Given the description of an element on the screen output the (x, y) to click on. 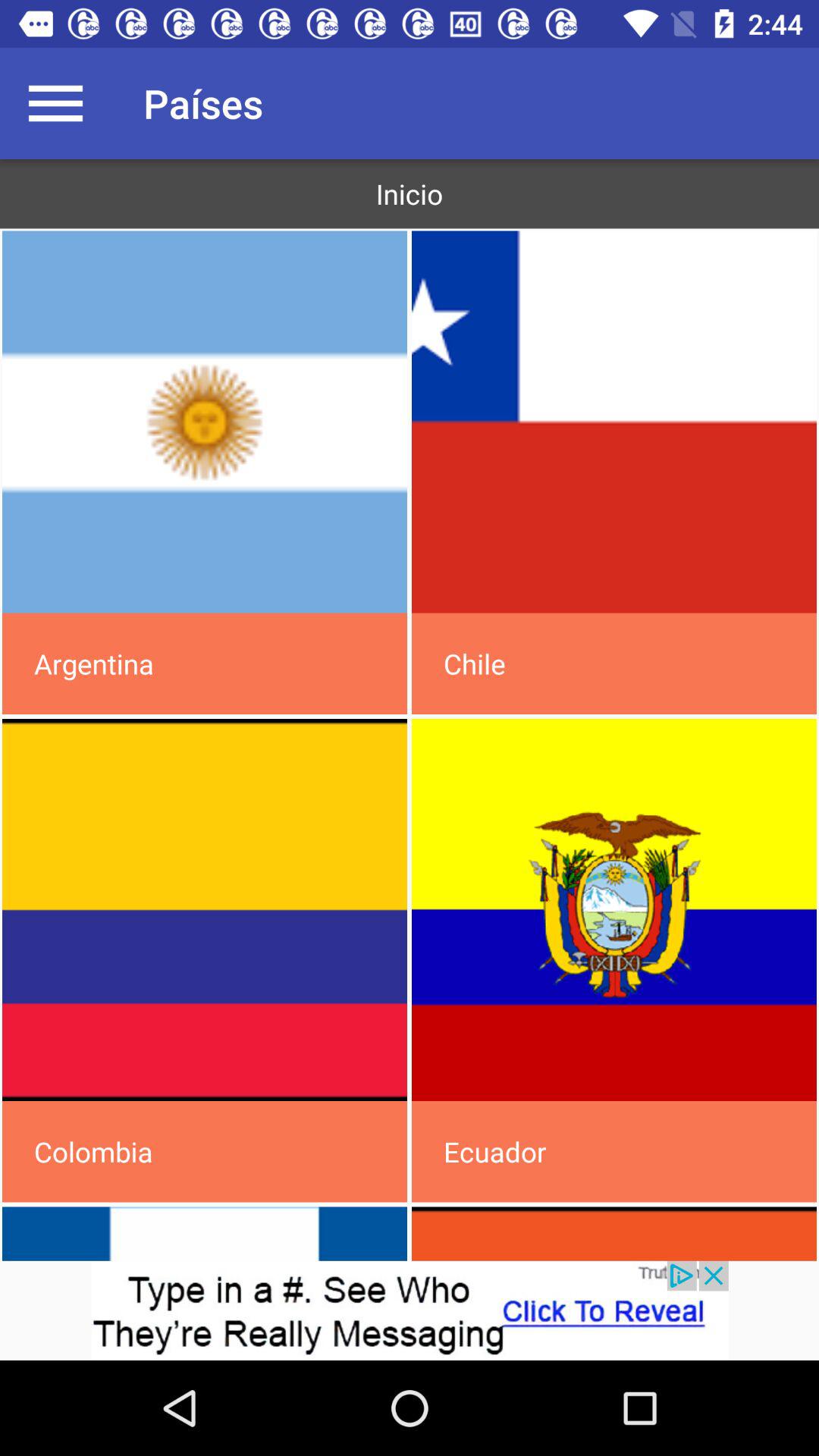
toggle autoplay option (204, 421)
